Given the description of an element on the screen output the (x, y) to click on. 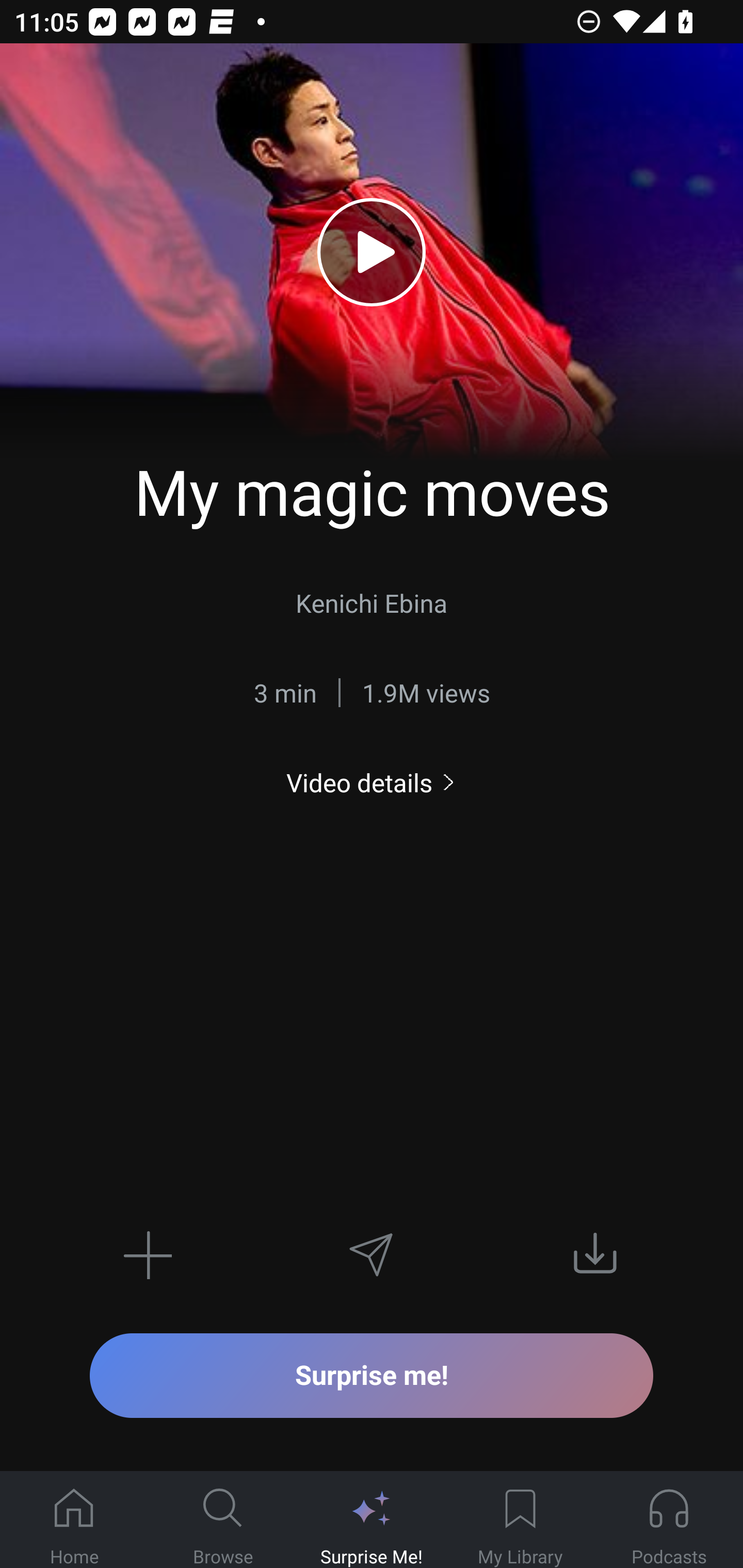
Video details (371, 783)
Surprise me! (371, 1374)
Home (74, 1520)
Browse (222, 1520)
Surprise Me! (371, 1520)
My Library (519, 1520)
Podcasts (668, 1520)
